Given the description of an element on the screen output the (x, y) to click on. 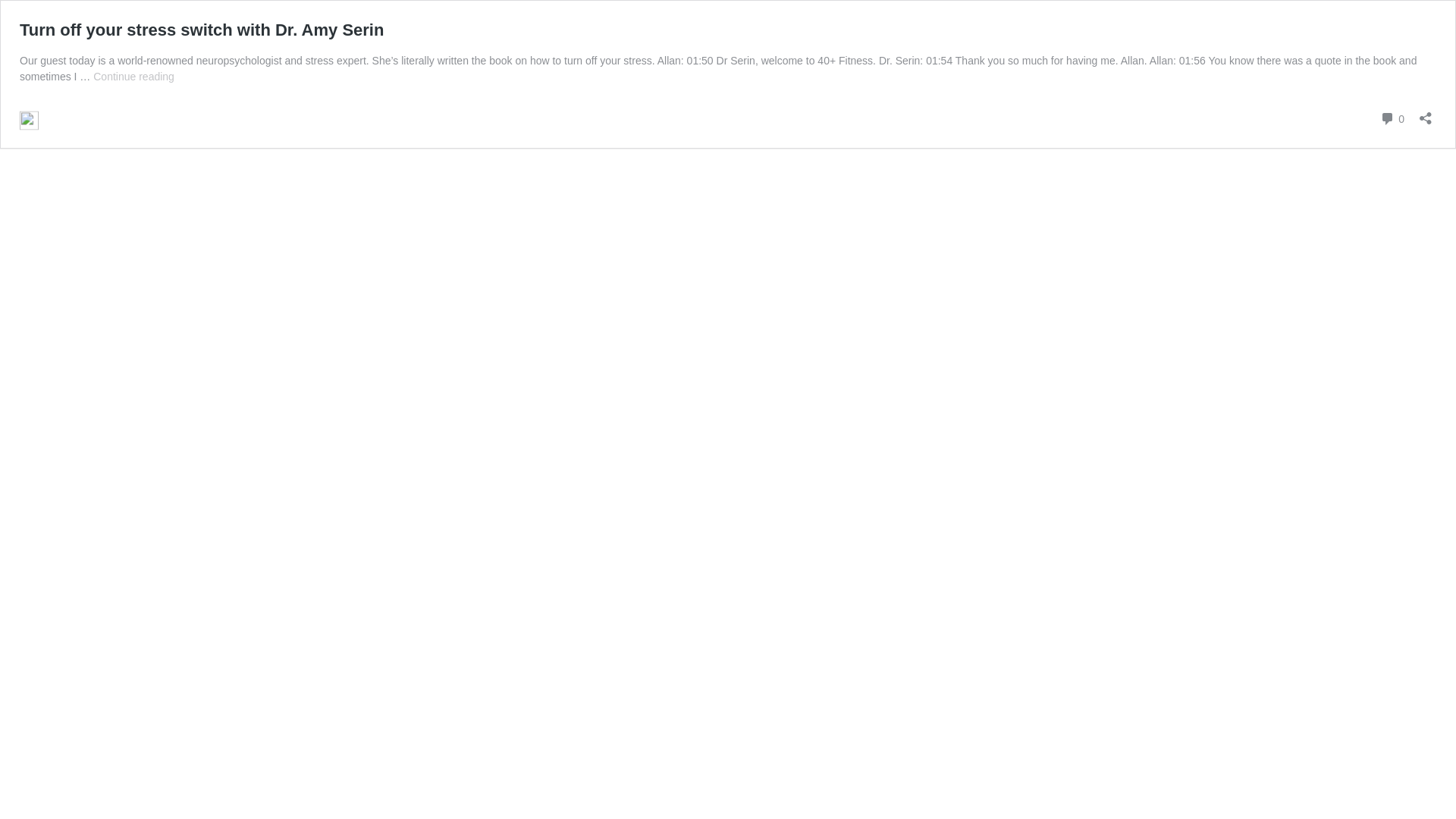
0
Comments Element type: text (1392, 117)
Turn off your stress switch with Dr. Amy Serin Element type: text (201, 29)
